Given the description of an element on the screen output the (x, y) to click on. 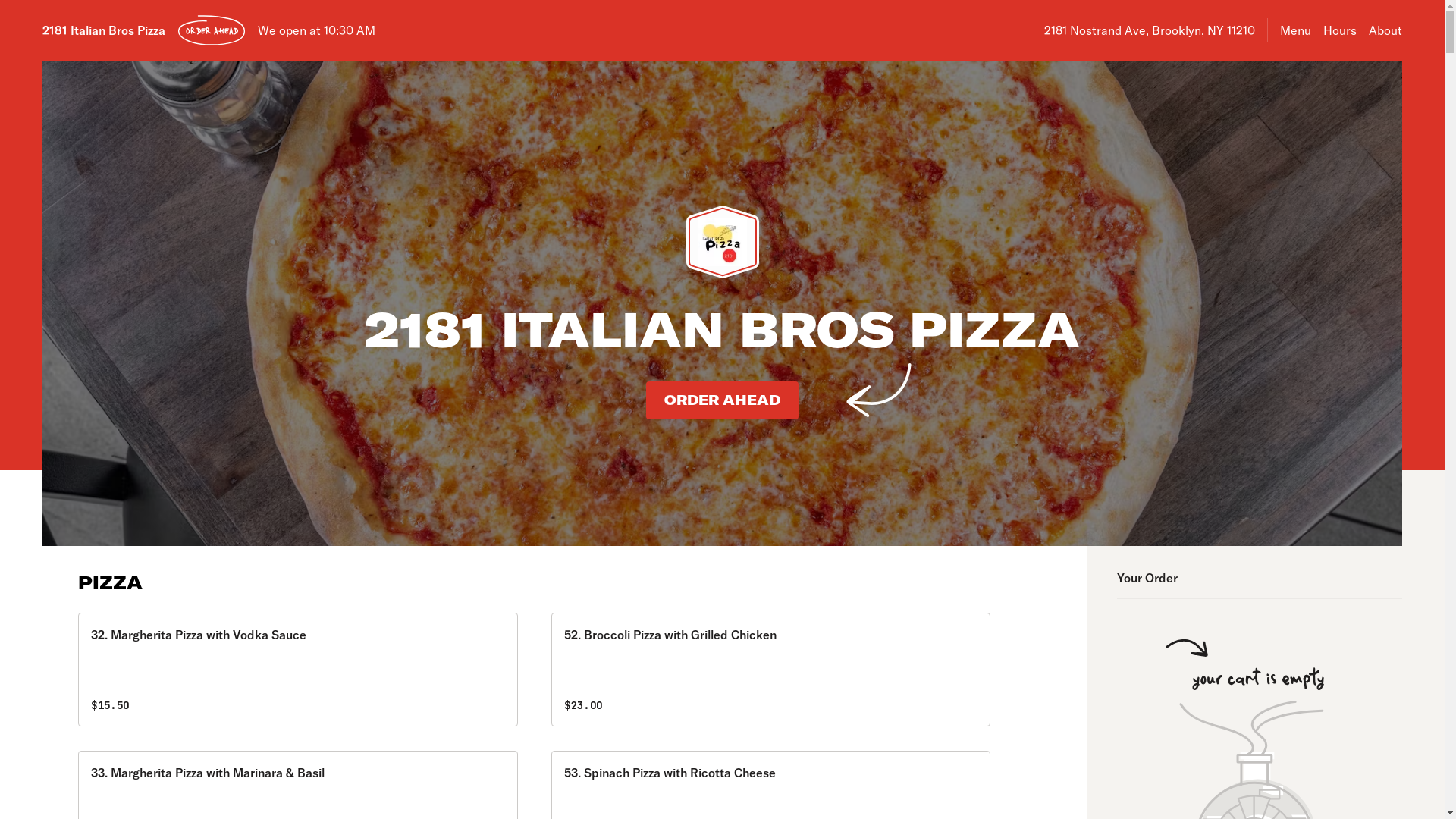
Hours Element type: text (1339, 30)
About Element type: text (1385, 29)
ORDER AHEAD Element type: text (211, 30)
ORDER AHEAD Element type: text (722, 400)
Menu Element type: text (1295, 29)
